Given the description of an element on the screen output the (x, y) to click on. 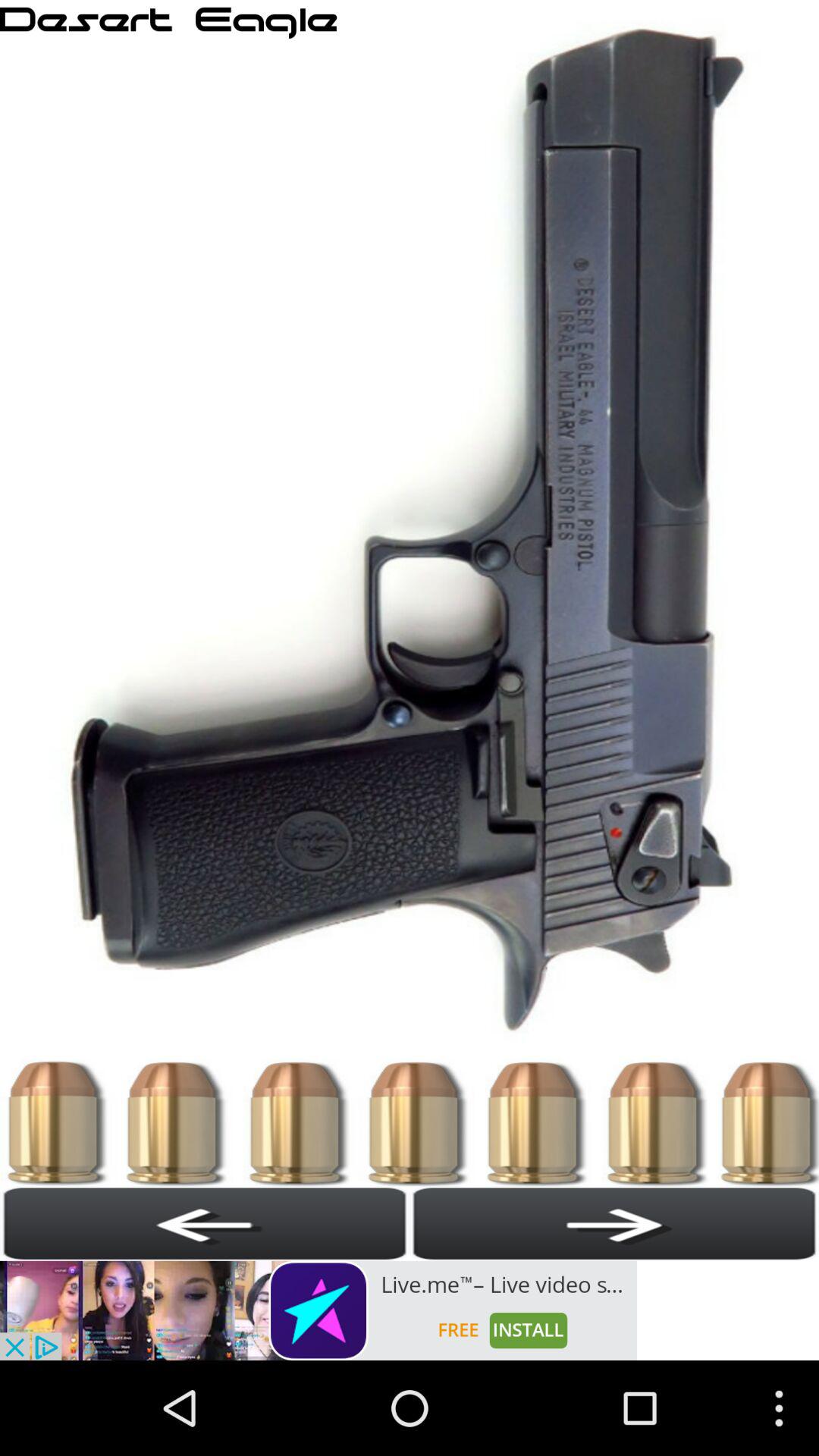
go to previous weapon (204, 1223)
